Given the description of an element on the screen output the (x, y) to click on. 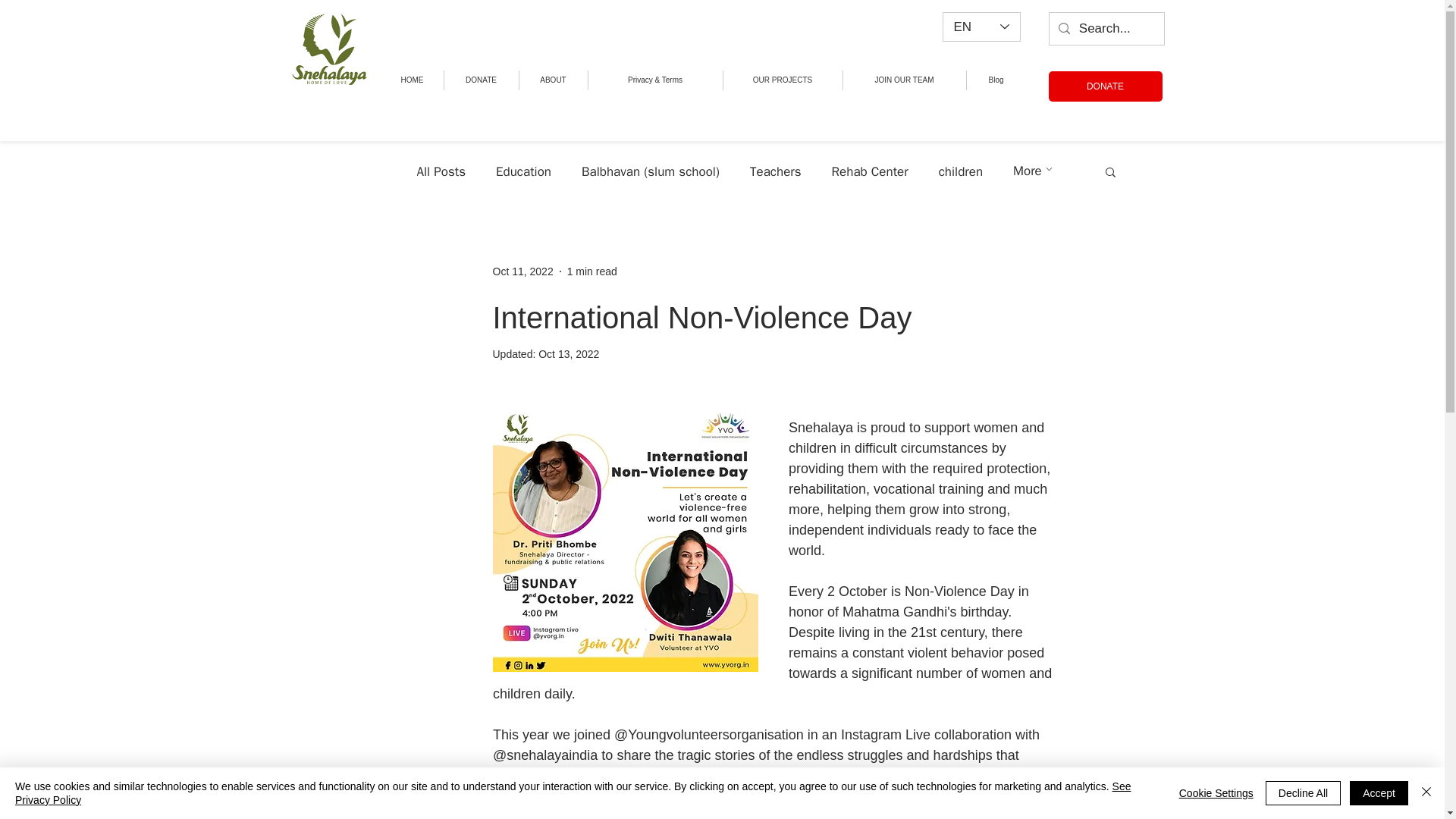
Education (523, 170)
ABOUT (552, 80)
Oct 11, 2022 (523, 271)
JOIN OUR TEAM (904, 80)
Rehab Center (869, 170)
DONATE (1104, 86)
HOME (411, 80)
OUR PROJECTS (783, 80)
All Posts (440, 170)
DONATE (481, 80)
